Given the description of an element on the screen output the (x, y) to click on. 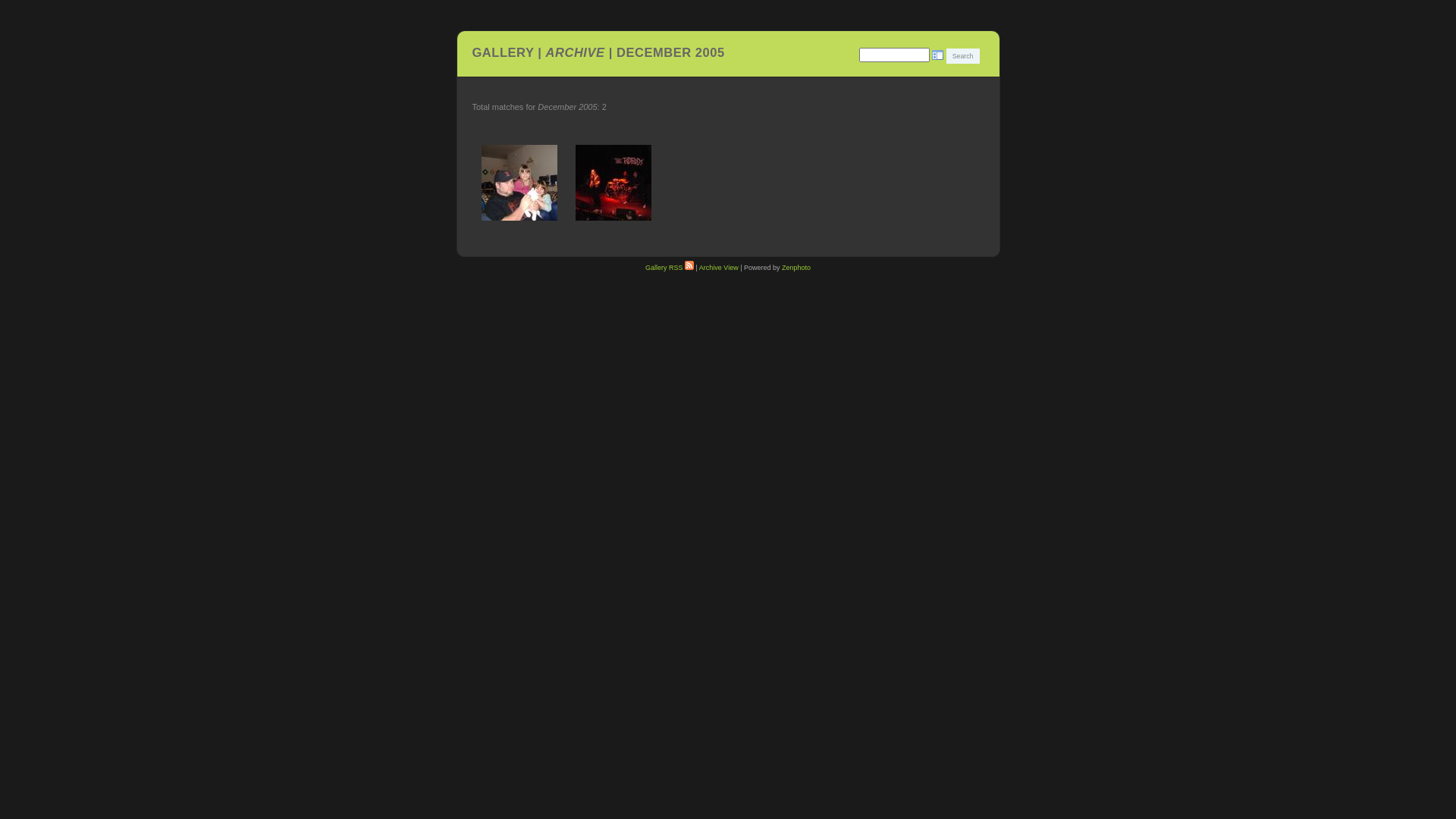
Zenphoto Element type: text (795, 267)
The Radfords at the Distrikt, December 23, 2005 Element type: hover (613, 182)
Search Element type: hover (962, 55)
Gallery RSS Element type: text (669, 267)
search options Element type: hover (937, 55)
Archive View Element type: text (718, 267)
Search Element type: text (962, 55)
Dave with niece Emily and daughter Acyan, December 29, 2005 Element type: hover (519, 182)
GALLERY Element type: text (502, 52)
The Radfords at the Distrikt, December 23, 2005 Element type: hover (612, 182)
Dave with niece Emily and daughter Acyan, December 29, 2005 Element type: hover (518, 182)
ARCHIVE Element type: text (575, 52)
